Given the description of an element on the screen output the (x, y) to click on. 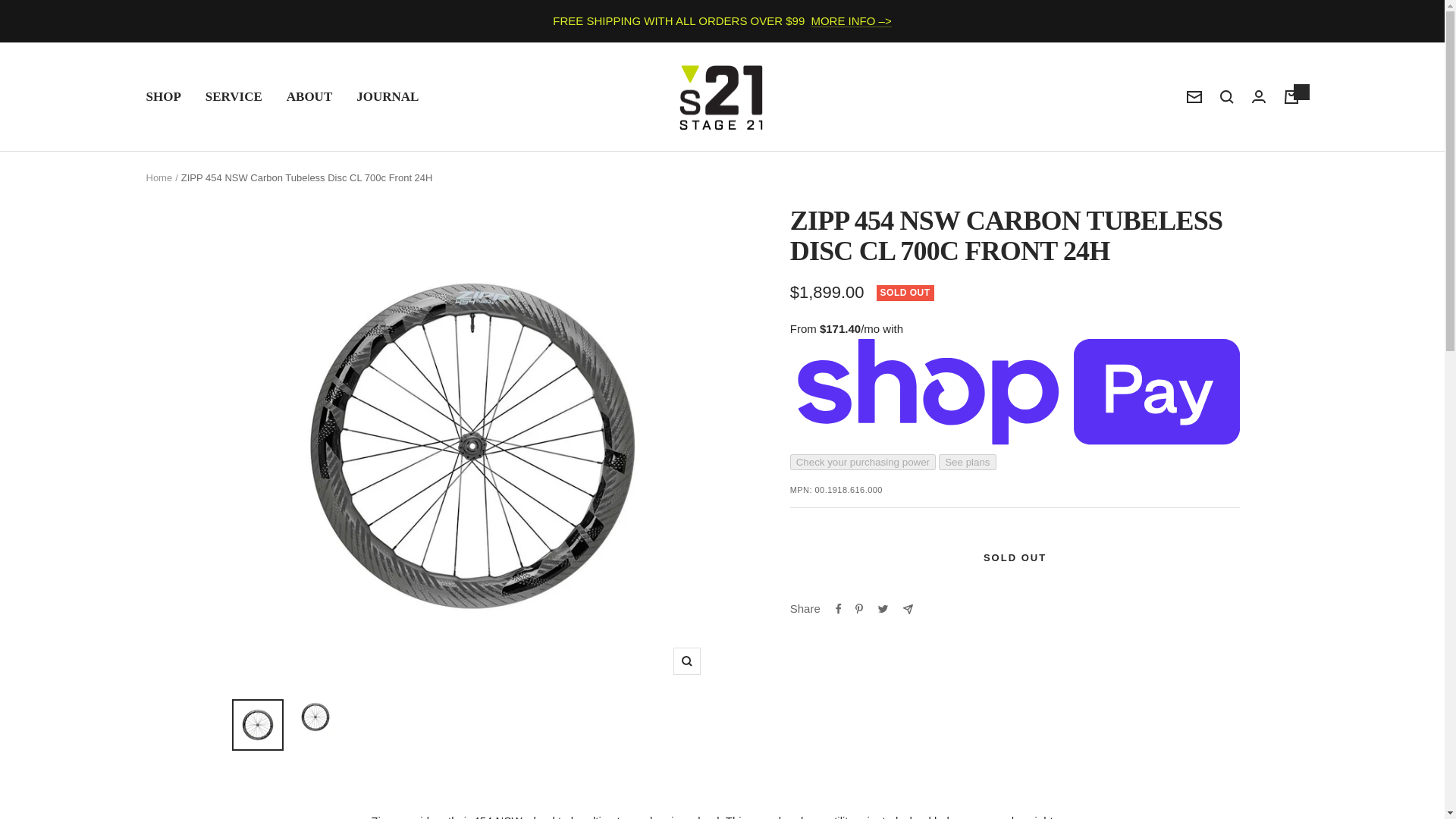
JOURNAL (387, 96)
ABOUT (308, 96)
Zoom (686, 660)
SOLD OUT (1015, 558)
Stage 21 Bikes (721, 96)
Home (158, 177)
SERVICE (233, 96)
SHOP (162, 96)
Newsletter (1193, 96)
0 (1290, 97)
